Given the description of an element on the screen output the (x, y) to click on. 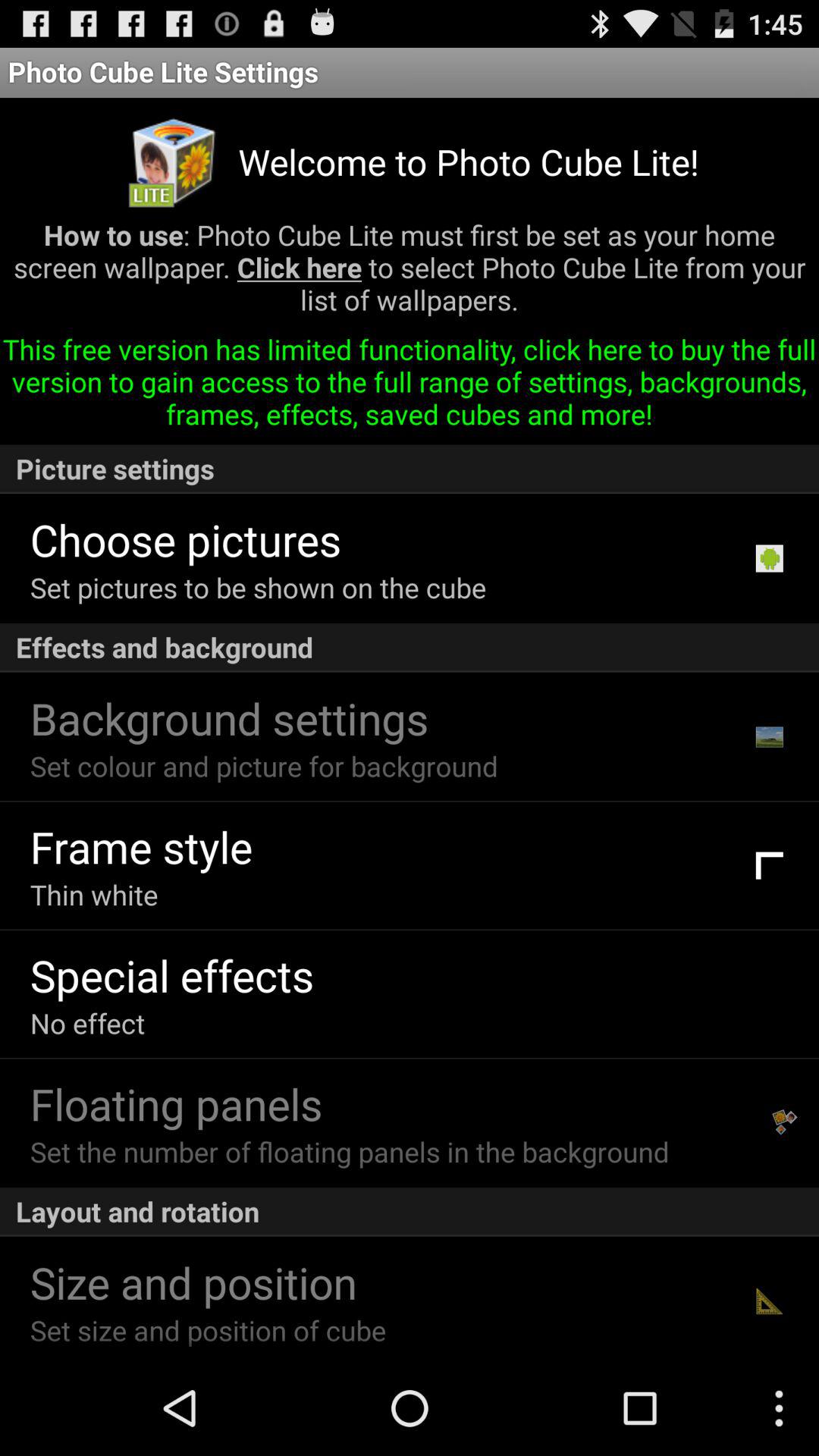
select the icon above choose pictures (409, 468)
